Given the description of an element on the screen output the (x, y) to click on. 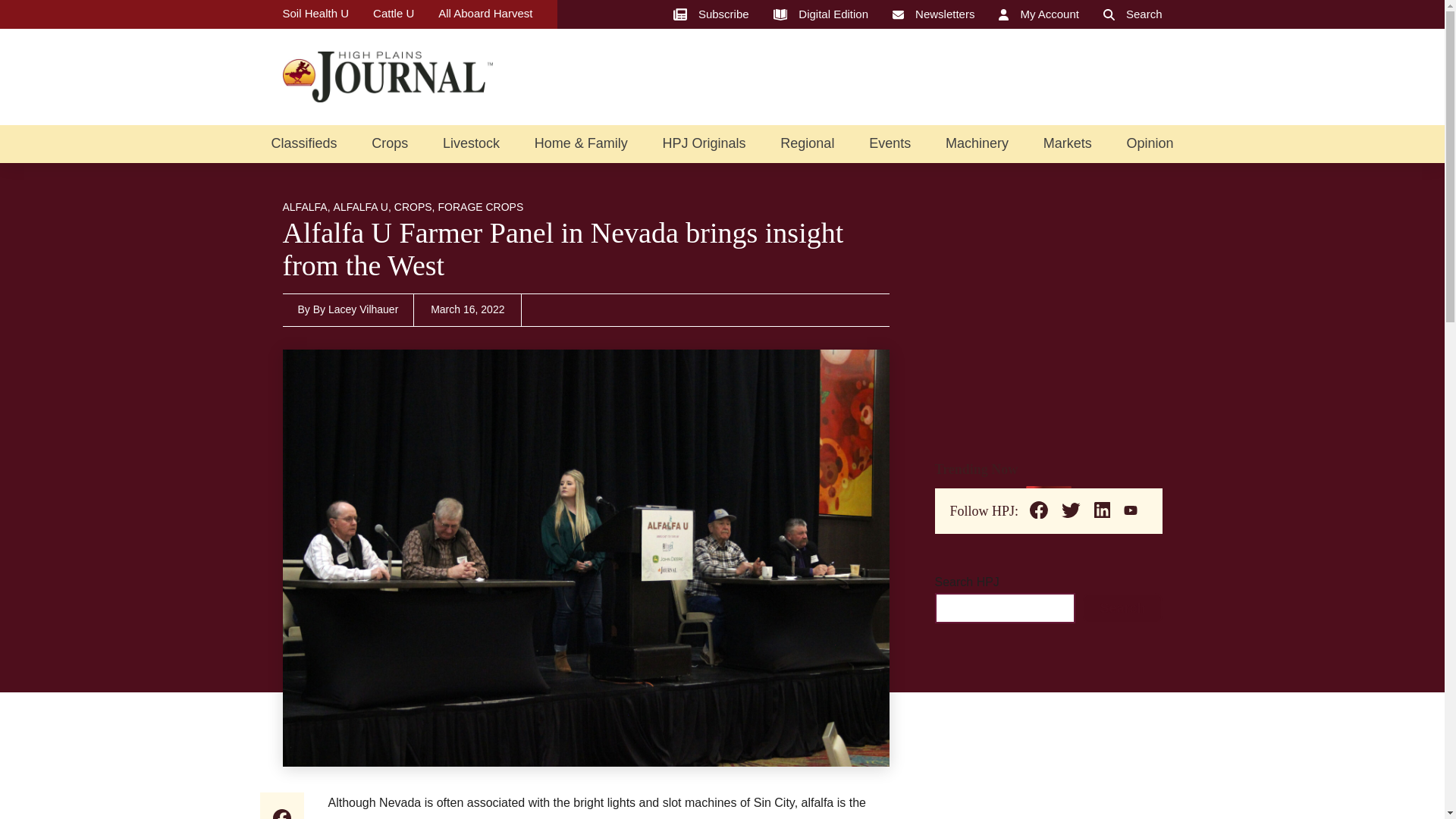
Crops (389, 143)
Digital Edition (820, 14)
Livestock (470, 143)
My Account (1038, 14)
All Aboard Harvest (485, 13)
Classifieds (303, 143)
Facebook (281, 812)
Cattle U (392, 13)
Subscribe (710, 14)
Search (1132, 14)
